Given the description of an element on the screen output the (x, y) to click on. 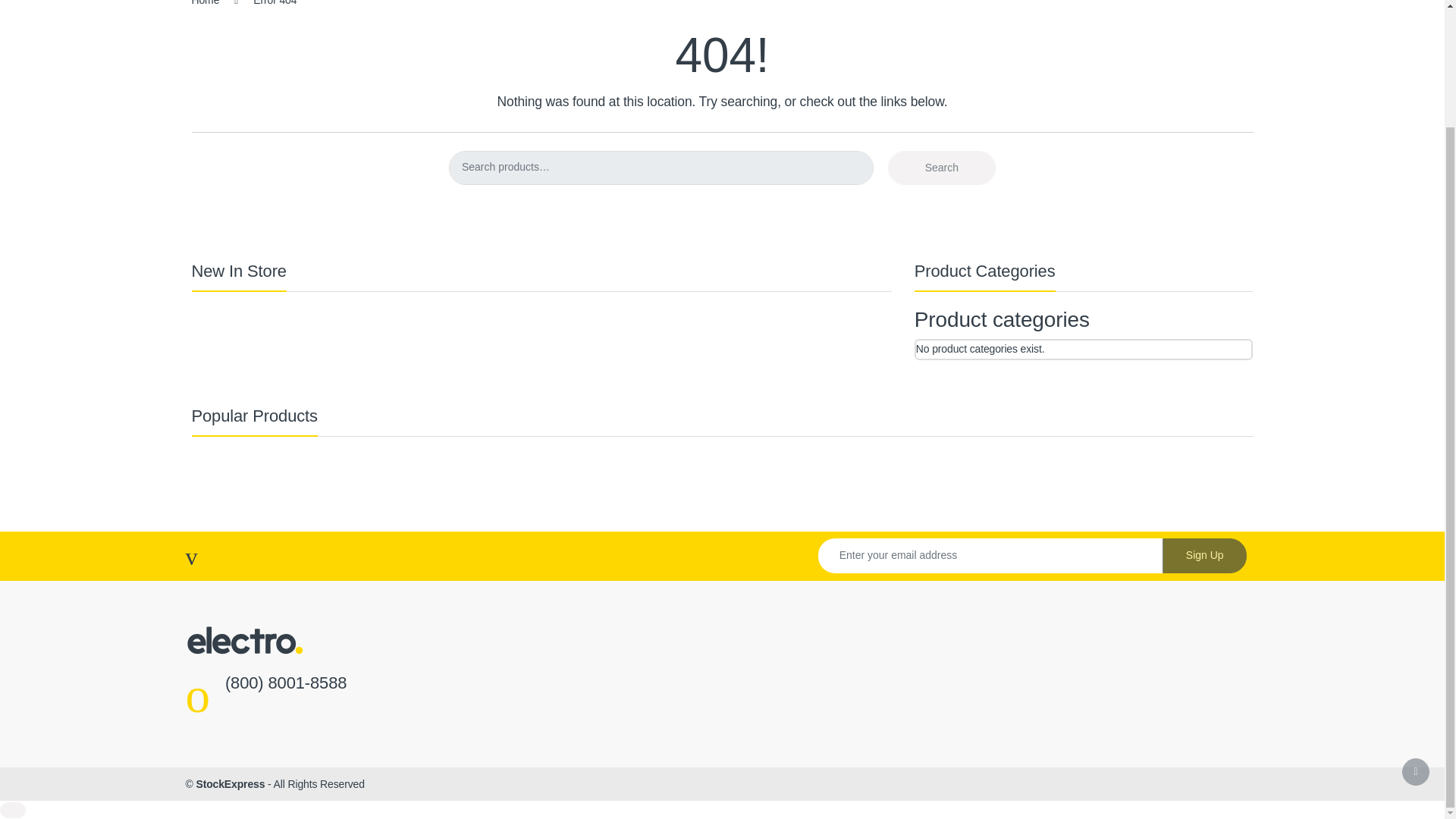
Home (204, 2)
Search (941, 167)
StockExpress (229, 784)
Sign Up (1204, 555)
